Given the description of an element on the screen output the (x, y) to click on. 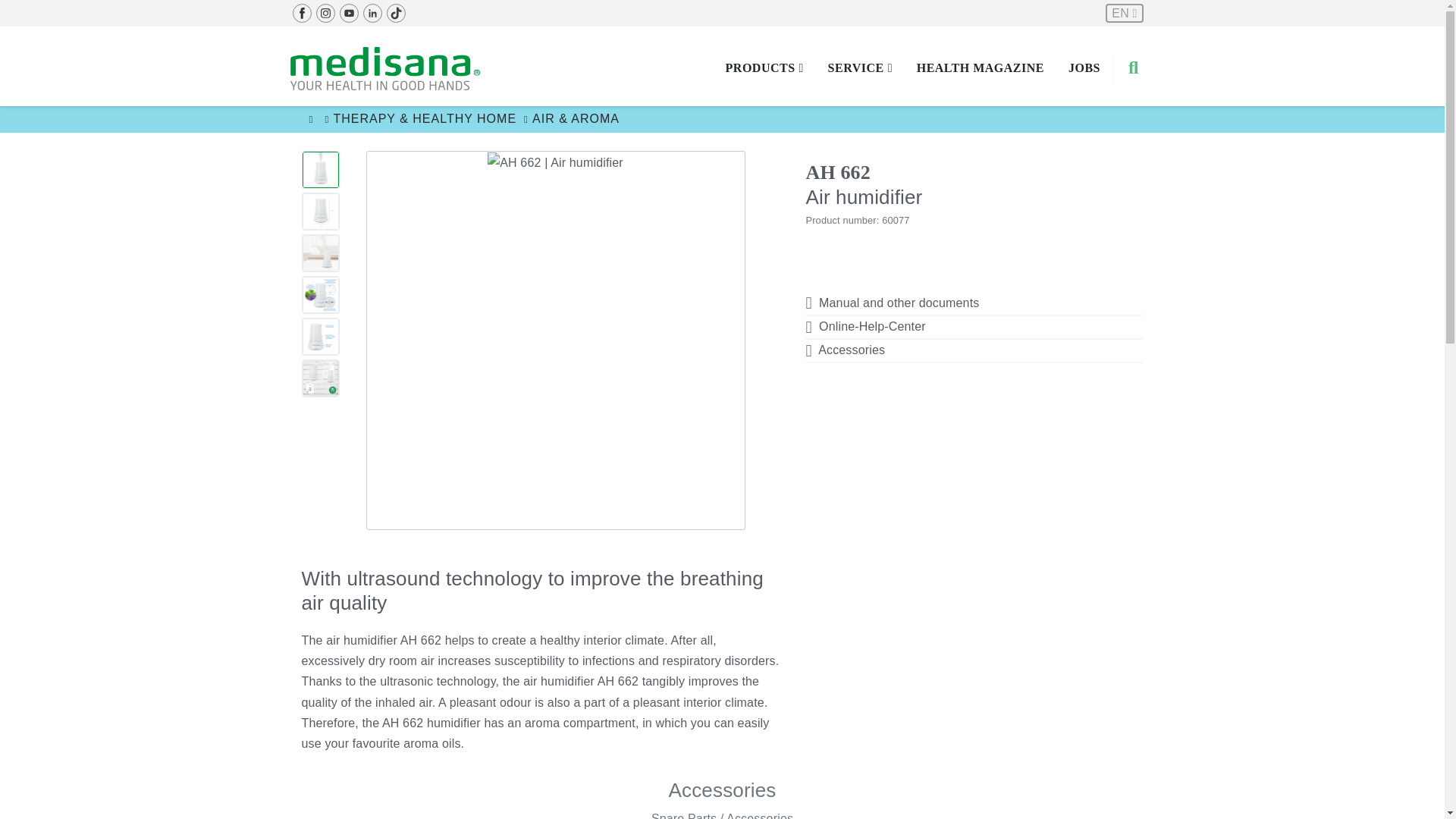
Instagram (325, 8)
LinkedIn (372, 8)
YouTube (347, 8)
EN (1123, 13)
Facebook (301, 8)
TikTok (395, 8)
